Given the description of an element on the screen output the (x, y) to click on. 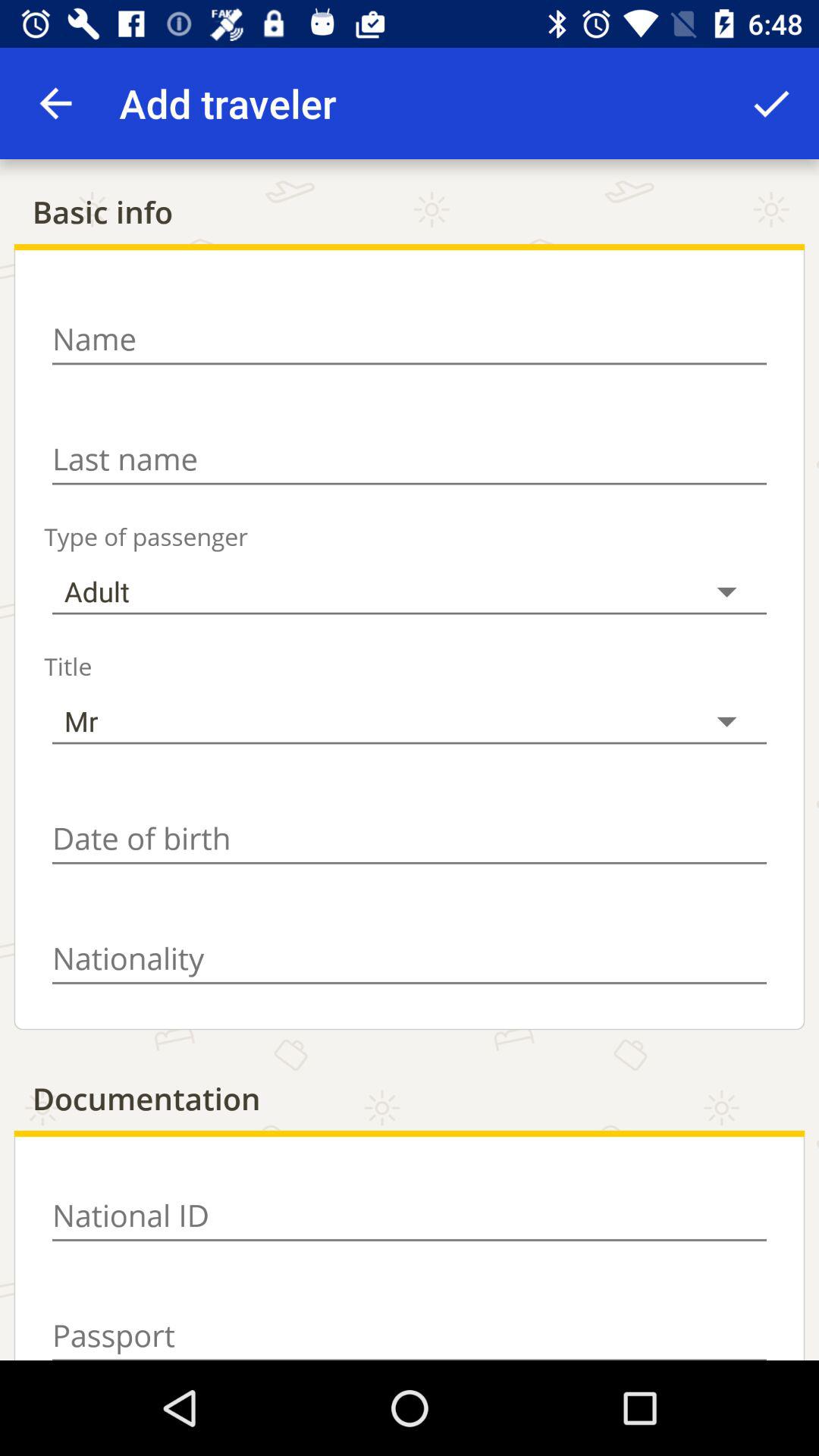
passport number (409, 1327)
